Given the description of an element on the screen output the (x, y) to click on. 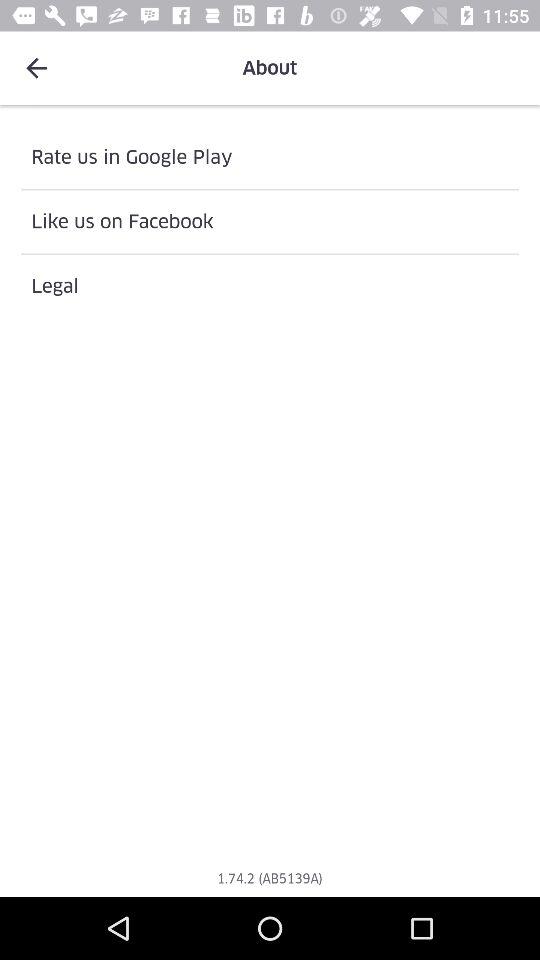
turn off legal (270, 286)
